Given the description of an element on the screen output the (x, y) to click on. 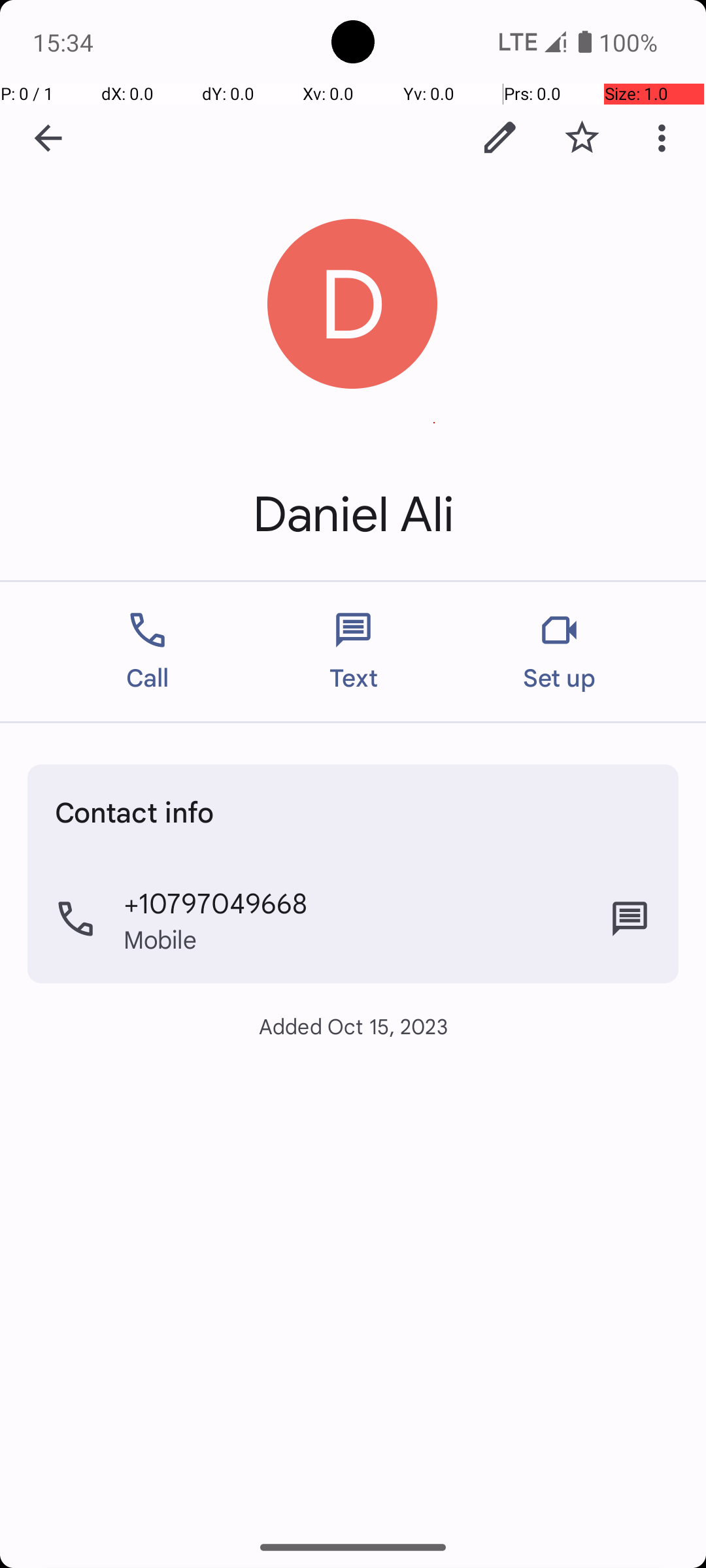
Edit contact Element type: android.widget.Button (499, 137)
Add to favorites Element type: android.widget.Button (582, 137)
Contact photo Element type: android.widget.ImageView (352, 303)
Text Element type: android.widget.TextView (353, 651)
Set up Element type: android.widget.TextView (559, 651)
Daniel Ali Element type: android.widget.TextView (352, 514)
Contact info Element type: android.widget.TextView (134, 811)
Call Mobile +10797049668 Element type: android.widget.RelativeLayout (352, 919)
Added Oct 15, 2023 Element type: android.widget.TextView (352, 1025)
+10797049668 Element type: android.widget.TextView (215, 901)
Mobile Element type: android.widget.TextView (160, 938)
Text Mobile +10797049668 Element type: android.widget.Button (629, 919)
